Given the description of an element on the screen output the (x, y) to click on. 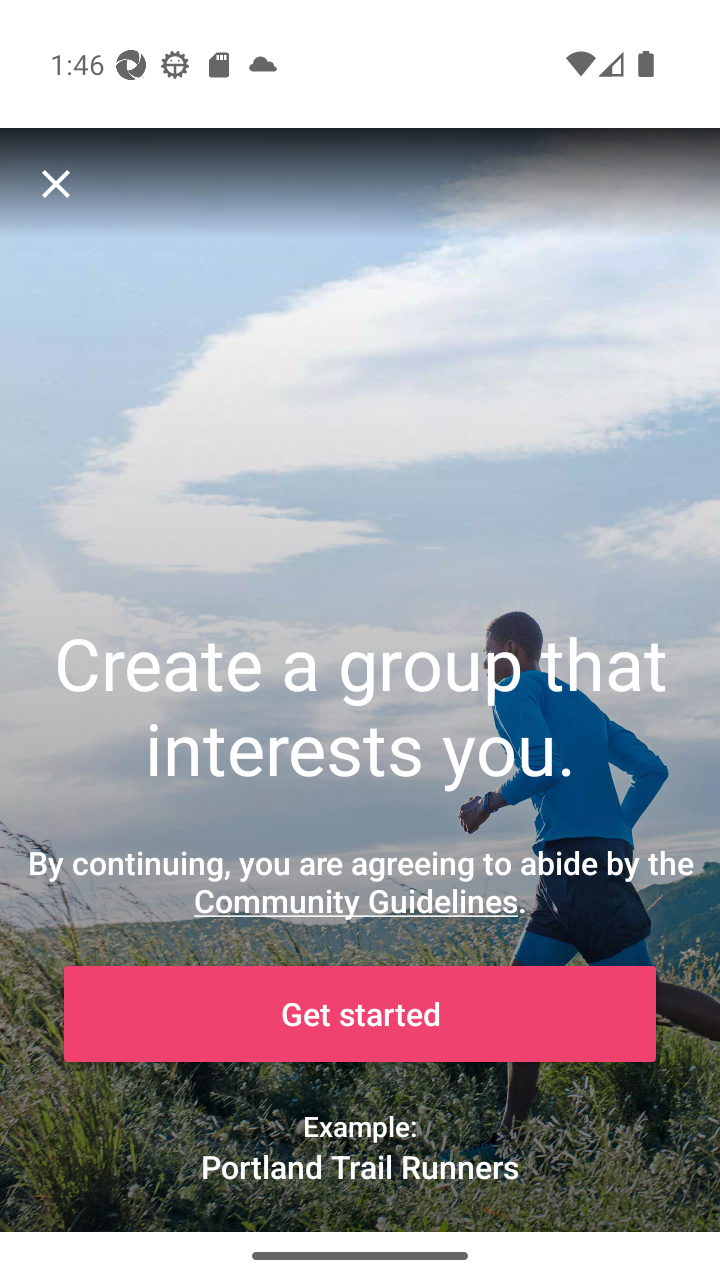
Get started (359, 1014)
